Given the description of an element on the screen output the (x, y) to click on. 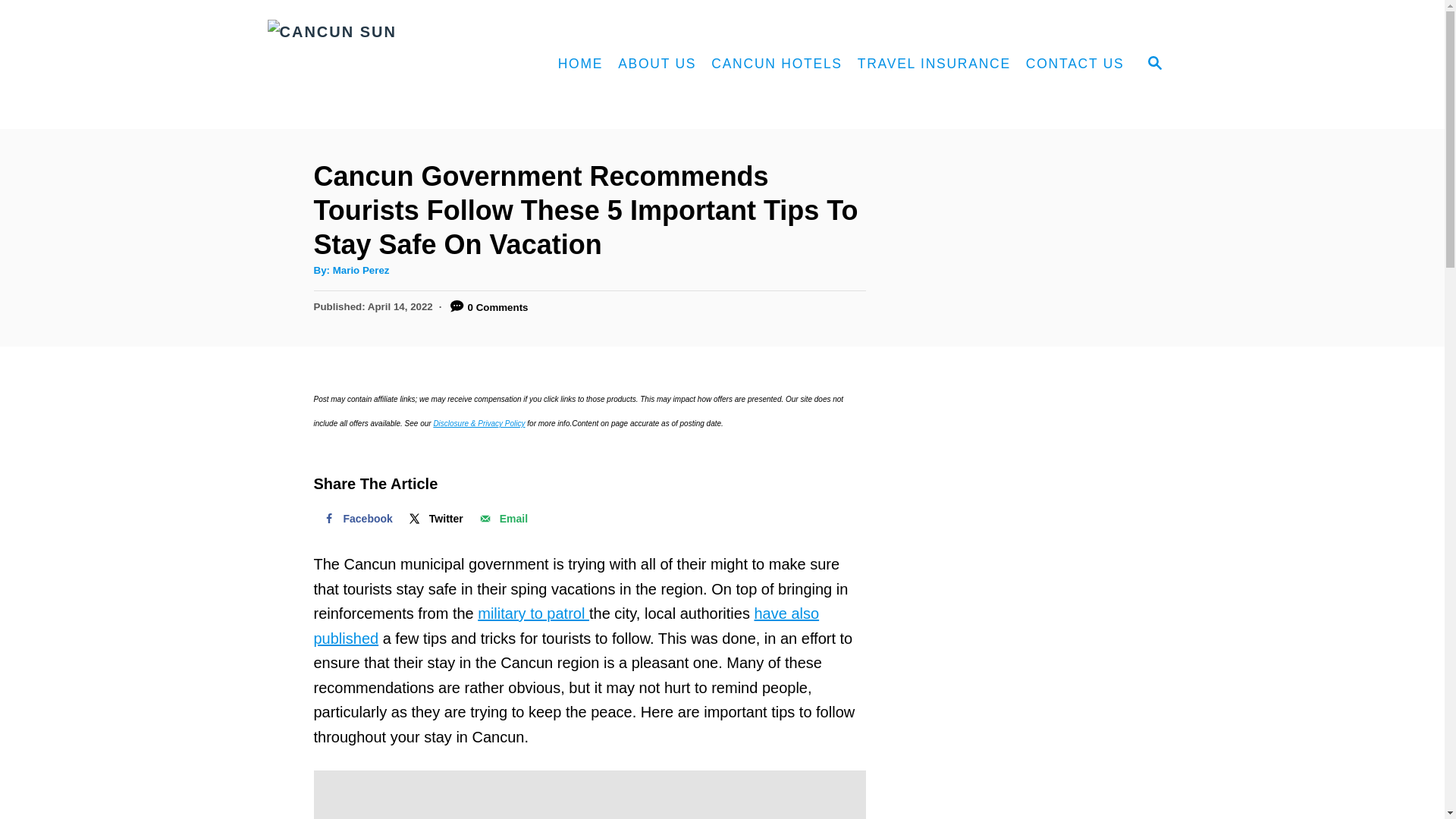
military to patrol (533, 613)
Share on Facebook (356, 518)
Facebook (356, 518)
CONTACT US (1074, 64)
HOME (580, 64)
have also published (566, 626)
Mario Perez (361, 270)
CANCUN HOTELS (776, 64)
Send over email (502, 518)
Share on X (434, 518)
ABOUT US (656, 64)
TRAVEL INSURANCE (933, 64)
Cancun Sun (394, 64)
Twitter (434, 518)
Email (502, 518)
